Given the description of an element on the screen output the (x, y) to click on. 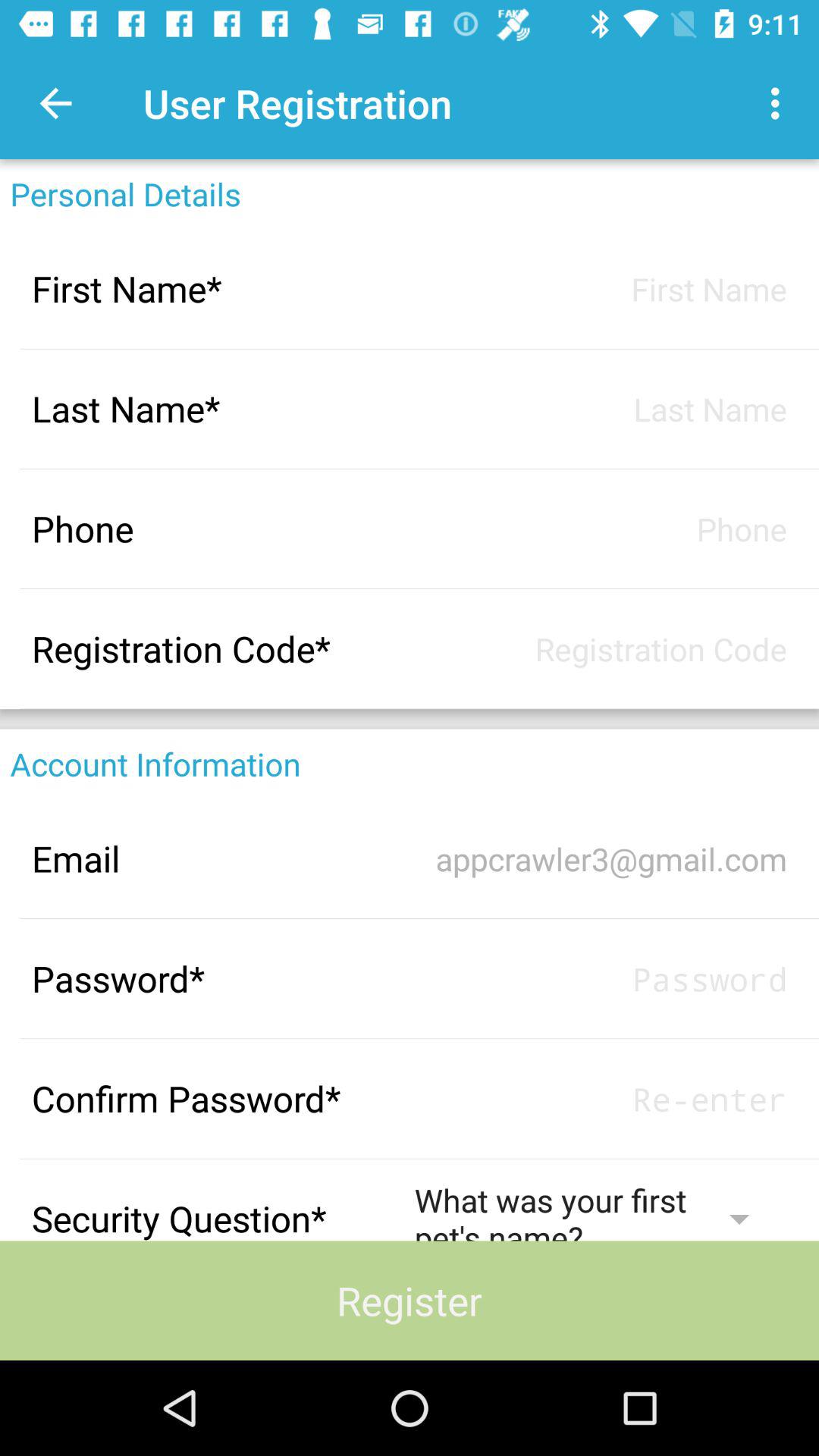
enter the last name (600, 408)
